Given the description of an element on the screen output the (x, y) to click on. 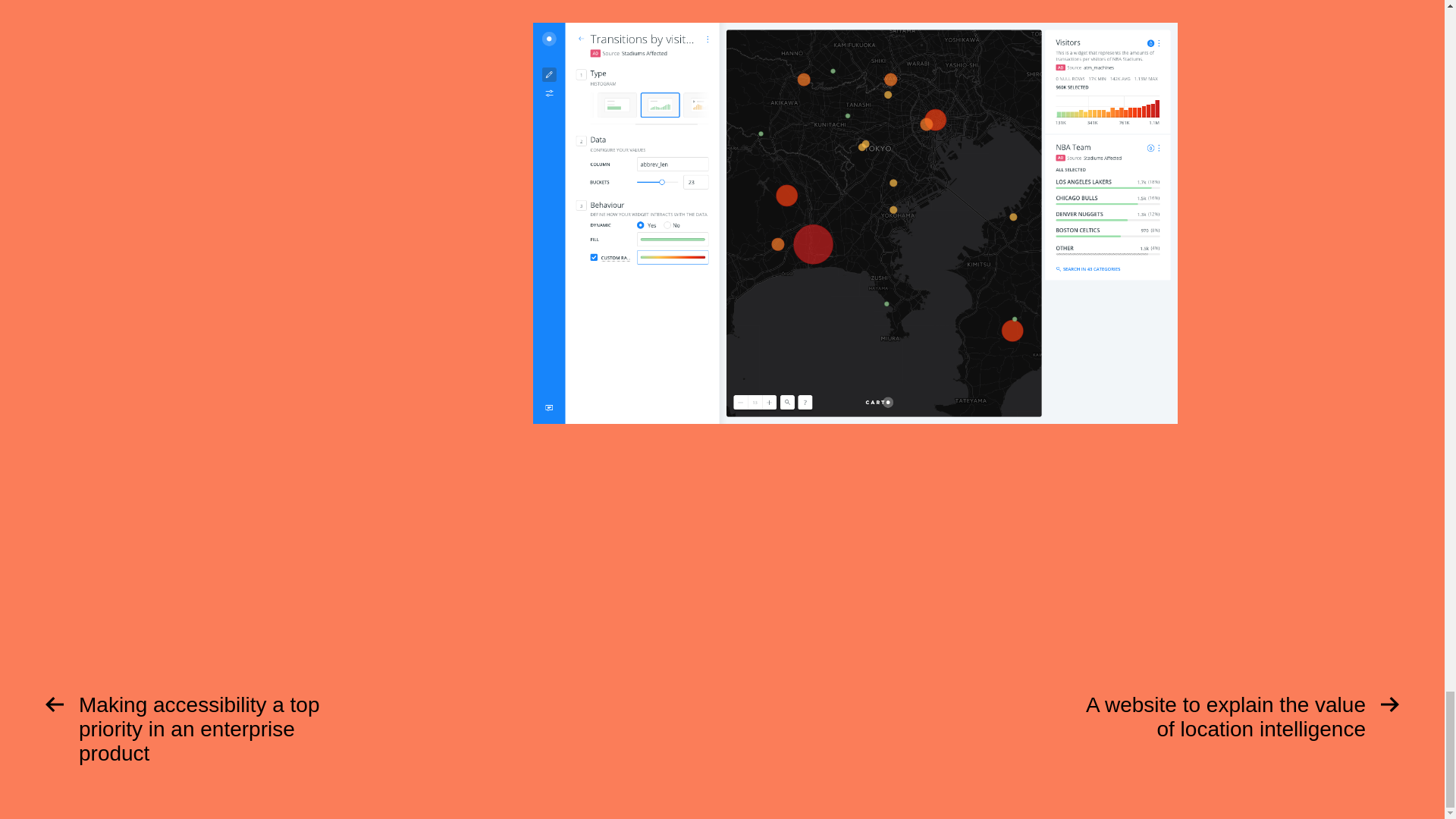
A website to explain the value of location intelligence (1244, 720)
Making accessibility a top priority in an enterprise product (199, 732)
